Given the description of an element on the screen output the (x, y) to click on. 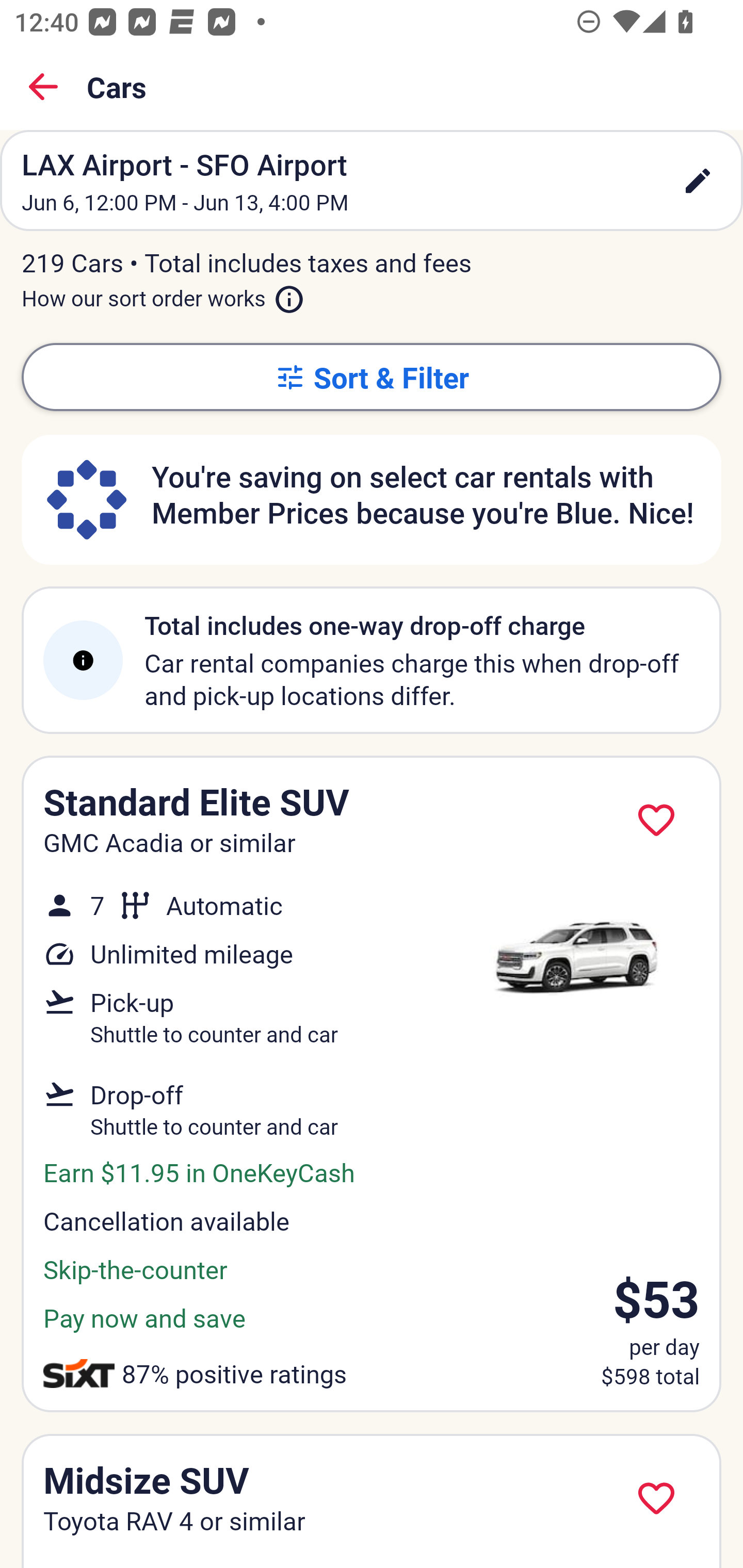
Back (43, 86)
edit (697, 180)
How our sort order works (163, 294)
Sort & Filter (371, 376)
